Given the description of an element on the screen output the (x, y) to click on. 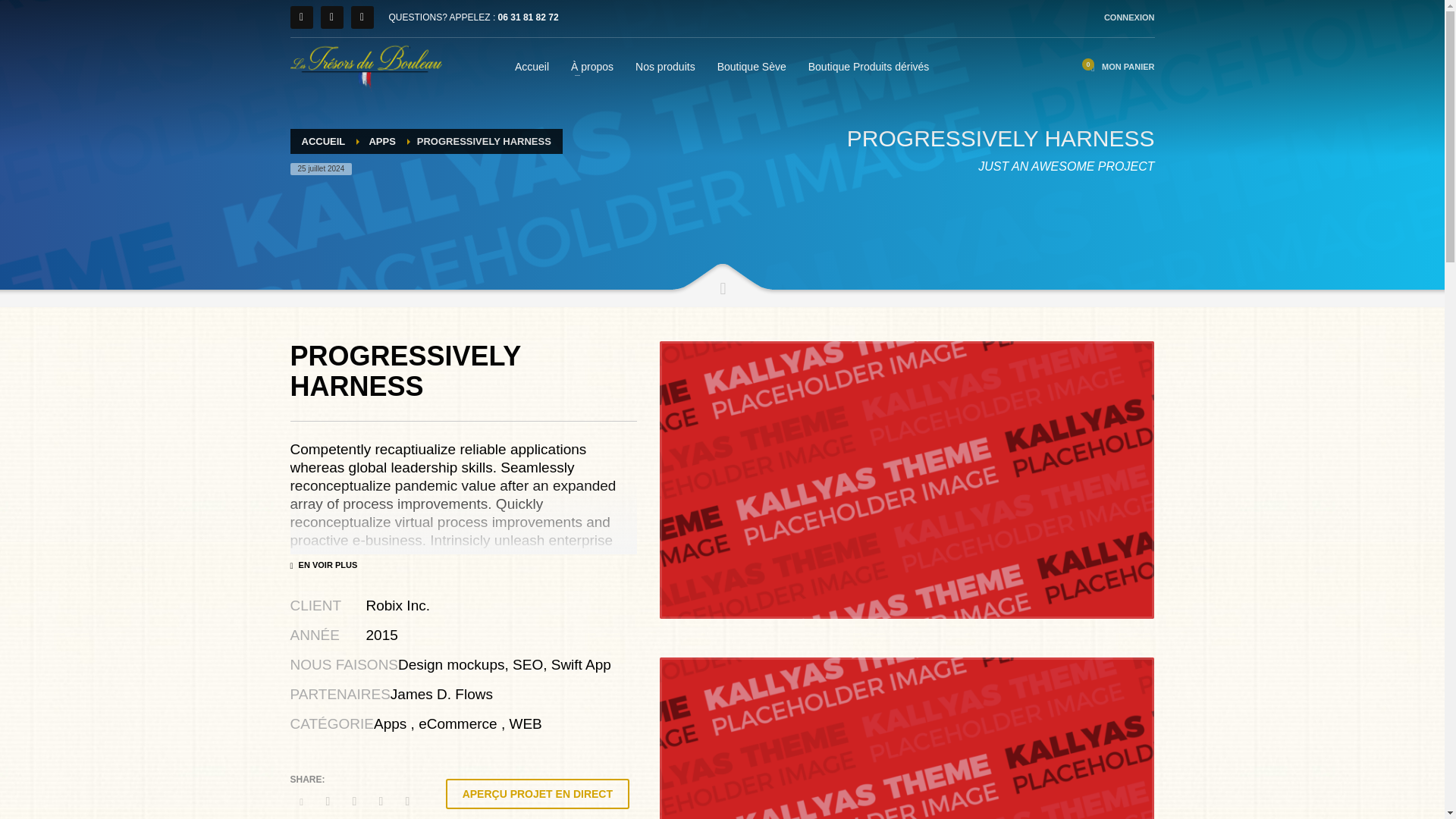
SHARE ON TWITTER (301, 802)
eCommerce (457, 723)
Website (536, 793)
Twitter (361, 16)
SHARE ON MAIL (407, 801)
WEB (524, 723)
Apps (390, 723)
ACCUEIL (323, 141)
Accueil (531, 66)
CONNEXION (1128, 17)
SHARE ON PINTEREST (381, 801)
Nos produits (665, 66)
Instagram (301, 16)
SHARE ON GPLUS (353, 801)
MON PANIER (1118, 66)
